Given the description of an element on the screen output the (x, y) to click on. 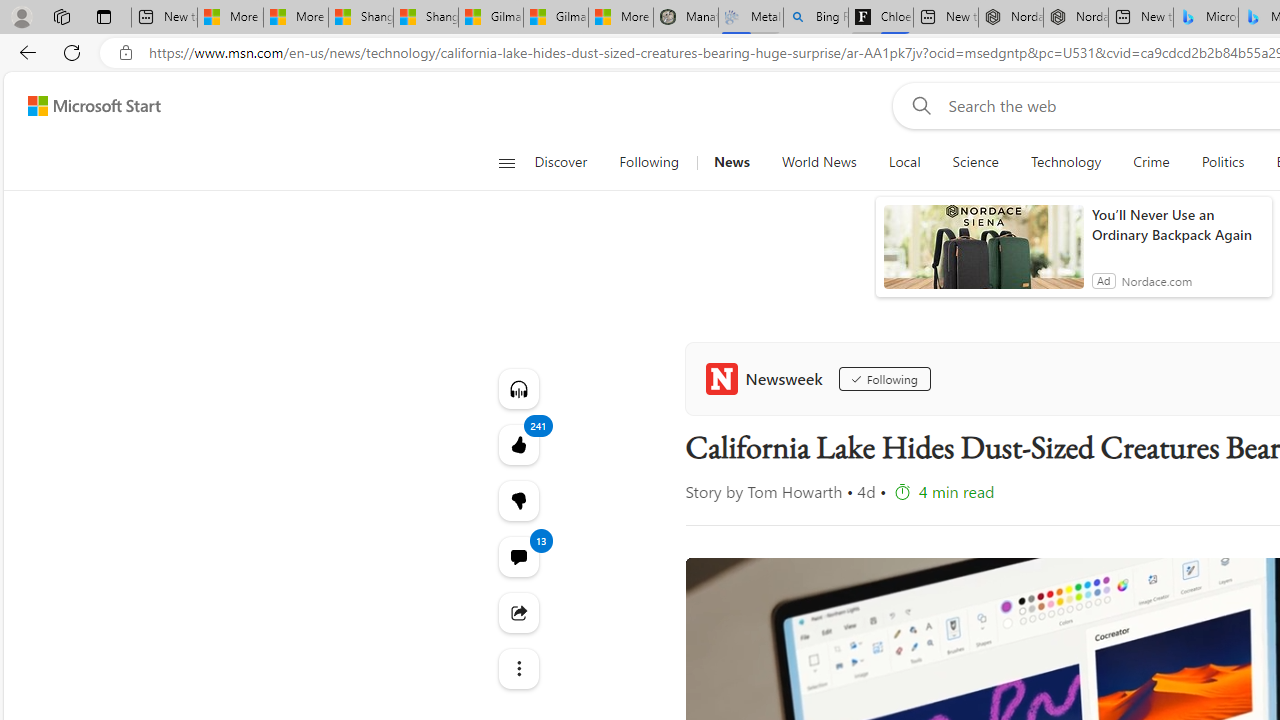
Nordace.com (1156, 280)
Local (904, 162)
Science (975, 162)
Bing Real Estate - Home sales and rental listings (815, 17)
Politics (1222, 162)
Local (903, 162)
Listen to this article (517, 388)
